Given the description of an element on the screen output the (x, y) to click on. 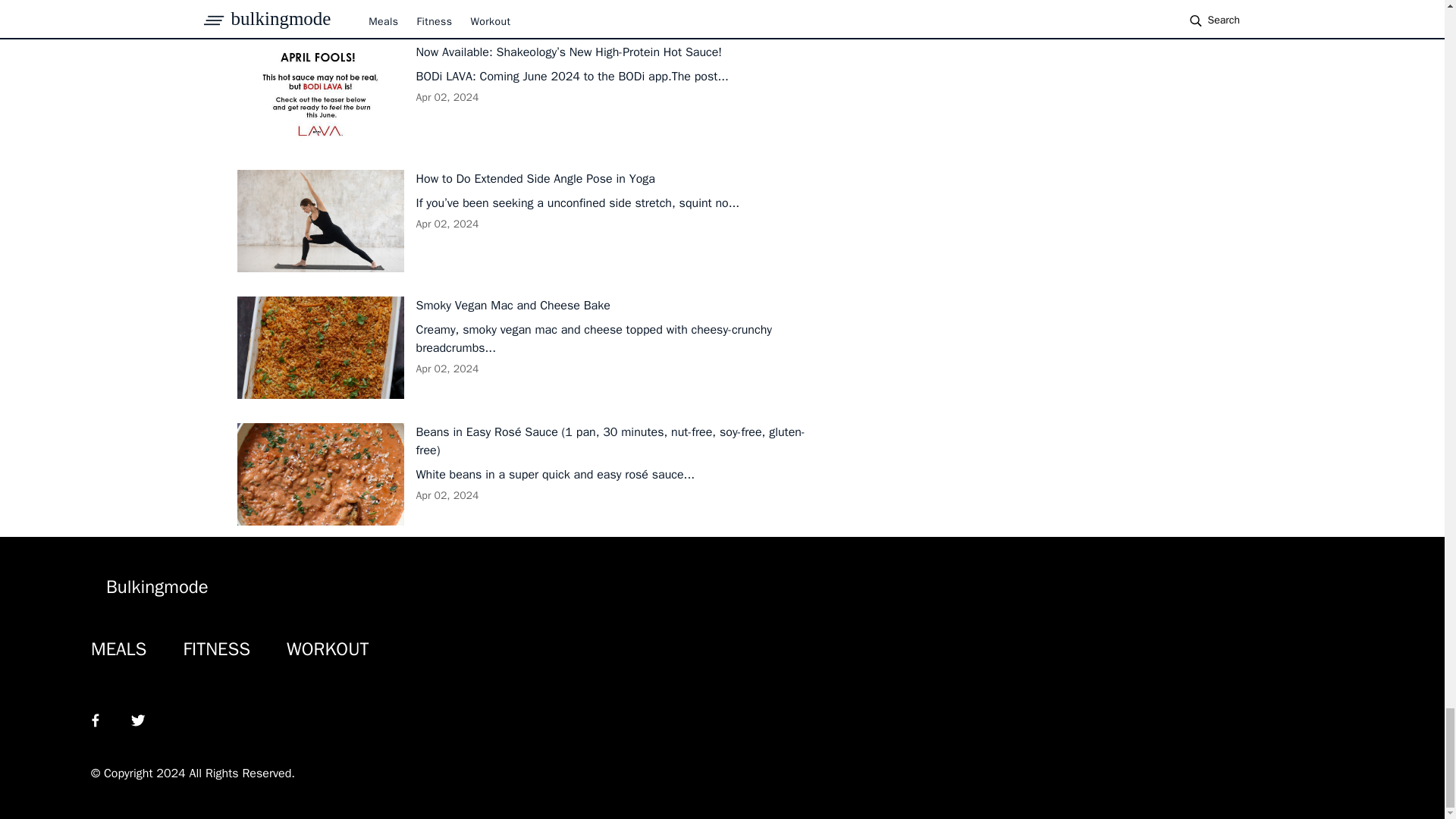
MEALS (118, 649)
FITNESS (216, 649)
WORKOUT (327, 649)
